Given the description of an element on the screen output the (x, y) to click on. 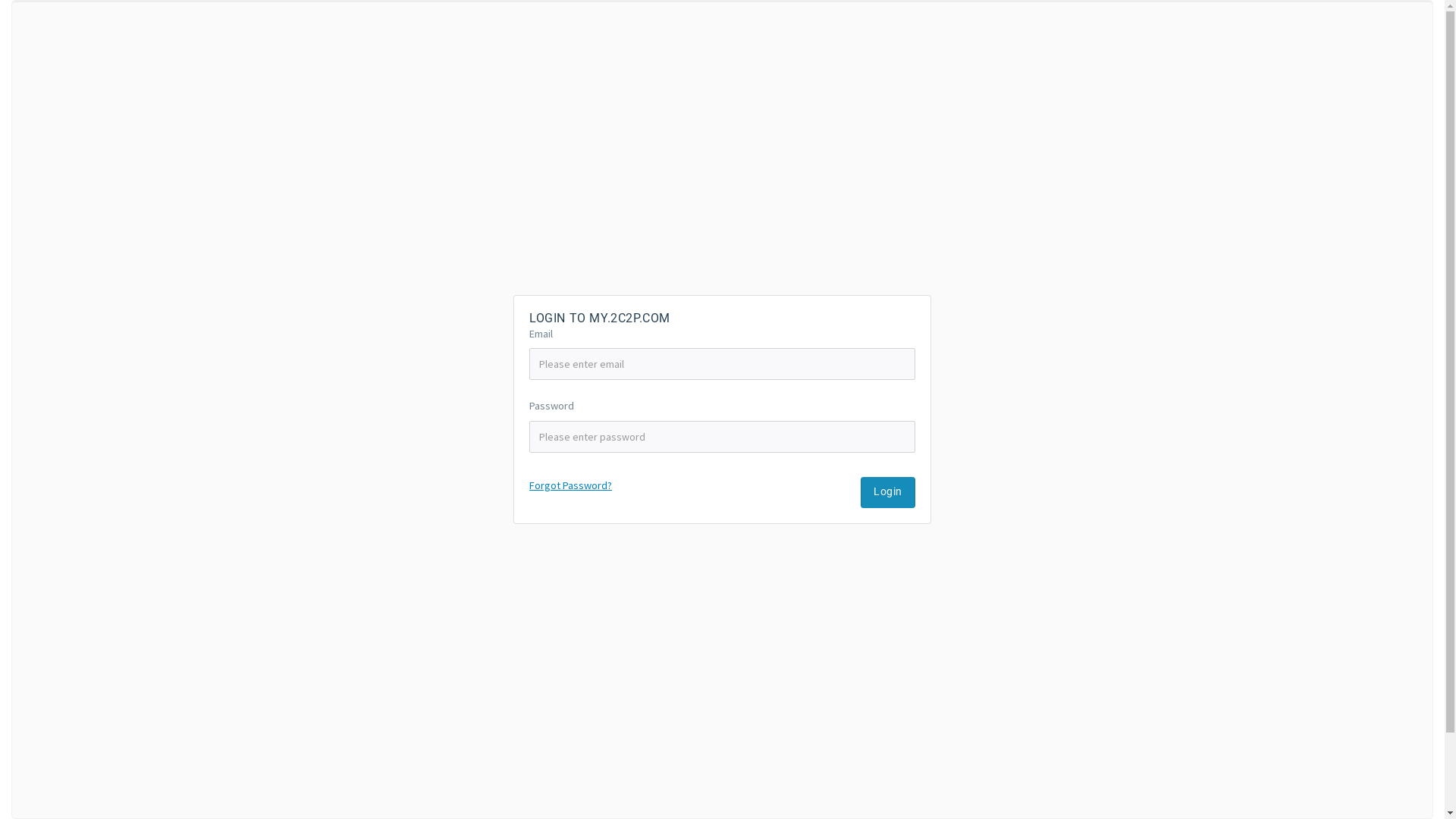
Forgot Password? Element type: text (570, 485)
Login Element type: text (887, 492)
